Given the description of an element on the screen output the (x, y) to click on. 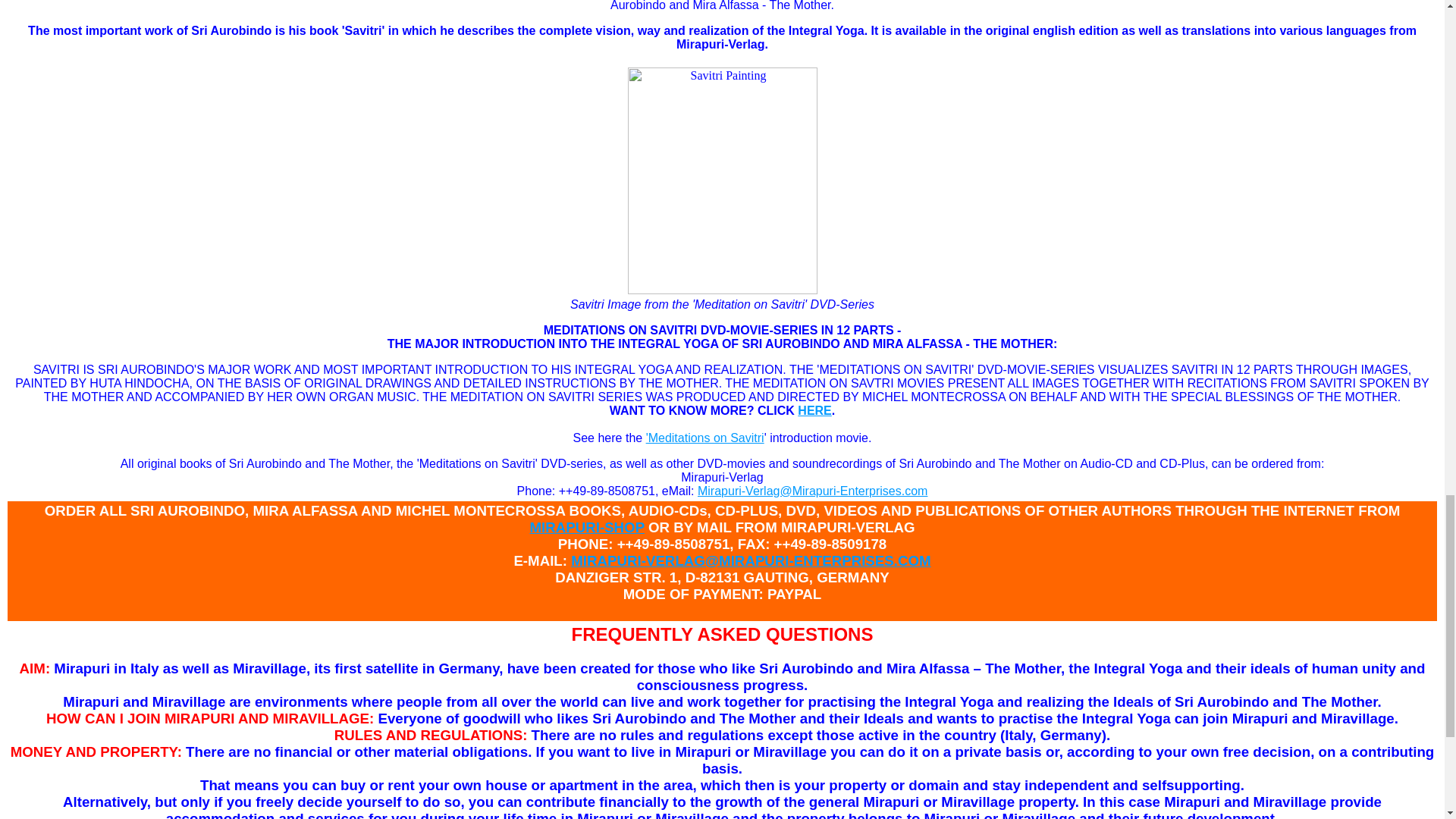
HERE (814, 410)
'Meditations on Savitri (705, 437)
MIRAPURI-SHOP (586, 527)
